Given the description of an element on the screen output the (x, y) to click on. 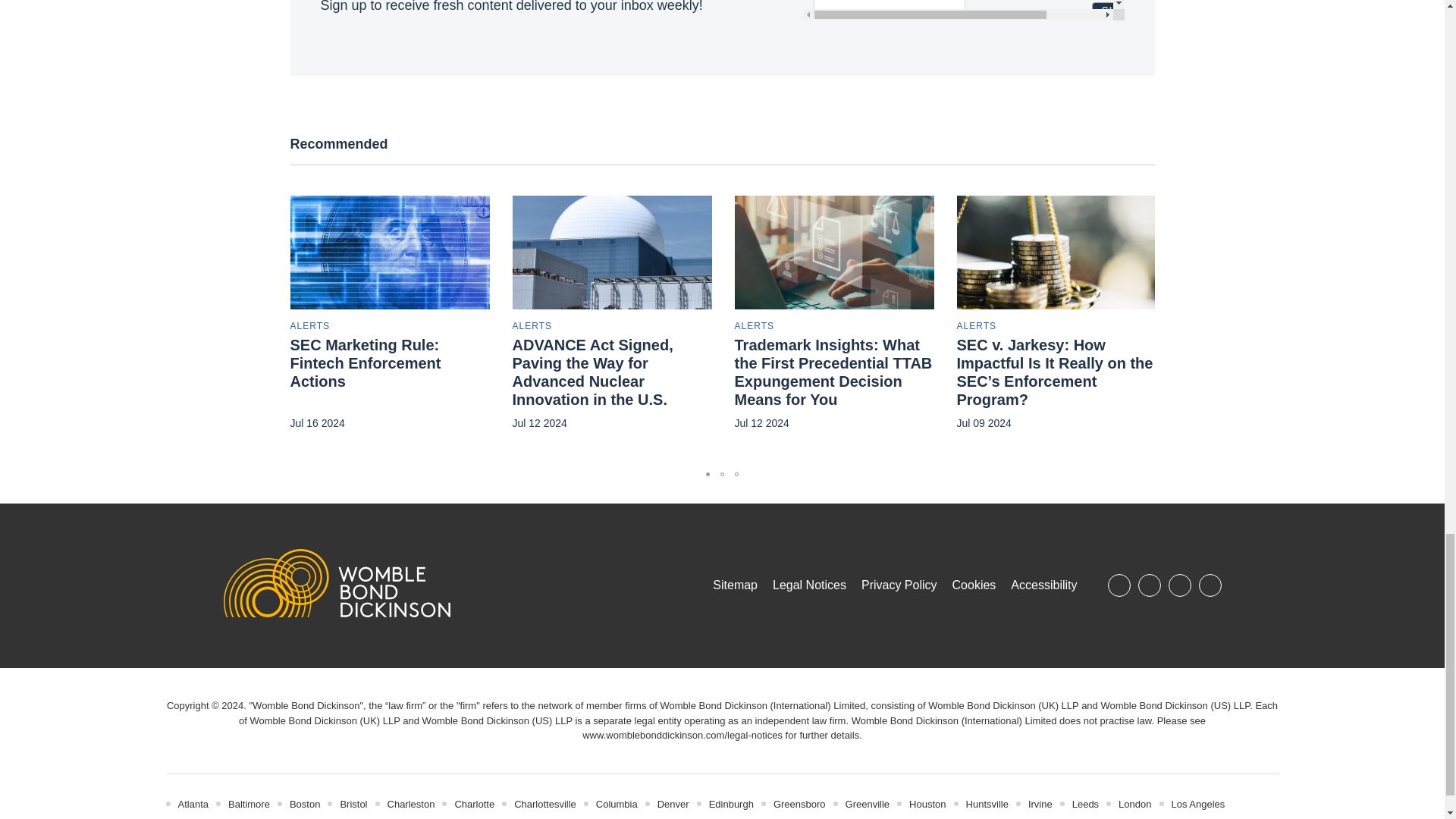
Columbia, SC, US (616, 803)
Bristol (352, 803)
Legal Notices (682, 735)
Greenville, SC, US (867, 803)
Charleston, SC, US (411, 803)
Edinburgh (731, 803)
Charlotte, NC, US (474, 803)
Baltimore, MD, US (248, 803)
Atlanta, GA, US (192, 803)
Denver, CO, US (673, 803)
Boston, MA, US (304, 803)
Charlottesville, VA, US (544, 803)
Greensboro, NC, US (799, 803)
